Given the description of an element on the screen output the (x, y) to click on. 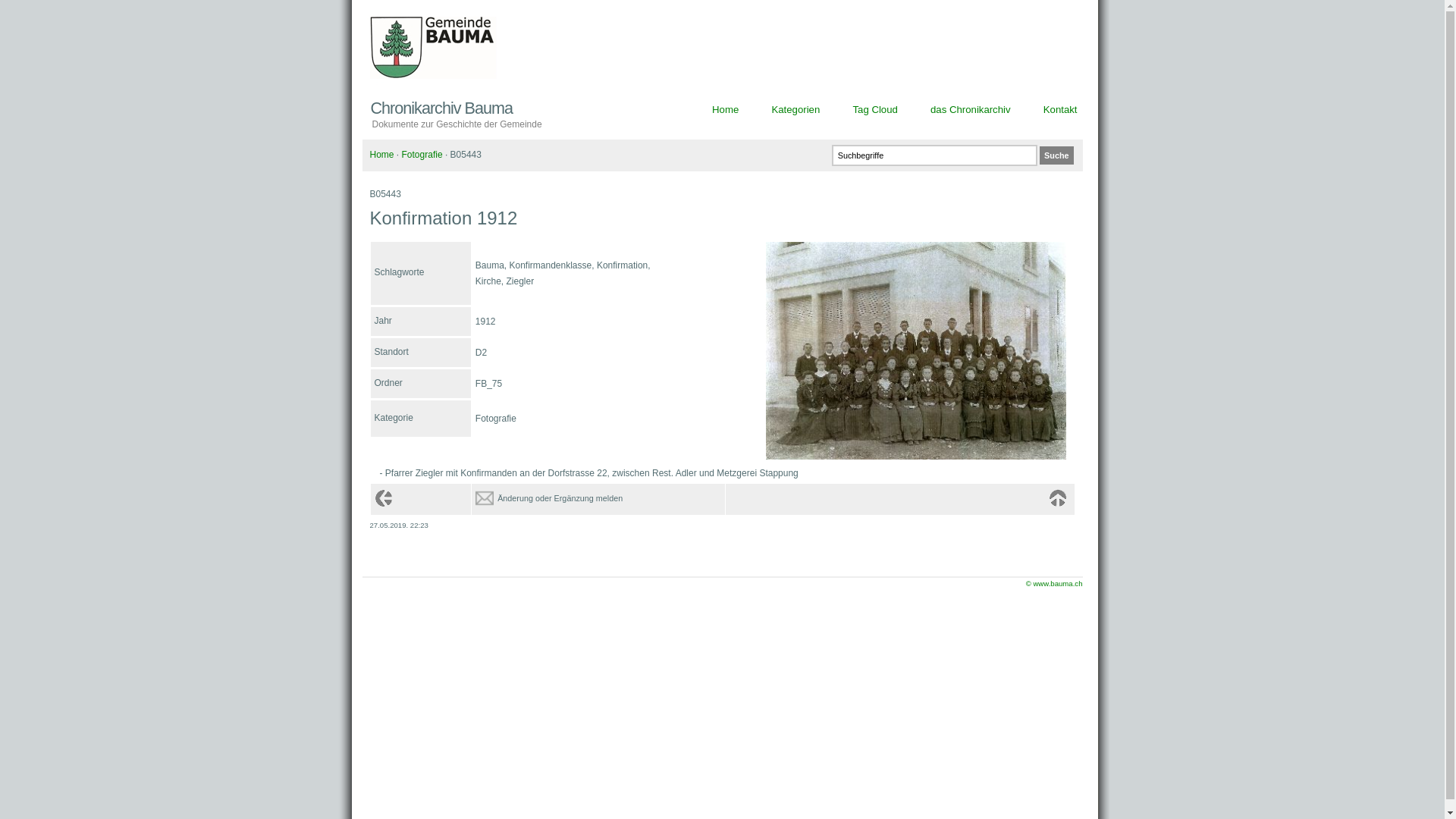
Kategorien Element type: text (795, 109)
Tag Cloud Element type: text (874, 109)
Fotografie Element type: text (421, 154)
Suche Element type: text (1056, 155)
Home Element type: text (725, 109)
Home Element type: text (382, 154)
das Chronikarchiv Element type: text (970, 109)
Home Element type: hover (1057, 498)
Konfirmation  1912 Element type: hover (915, 456)
Kontakt Element type: text (1060, 109)
